Given the description of an element on the screen output the (x, y) to click on. 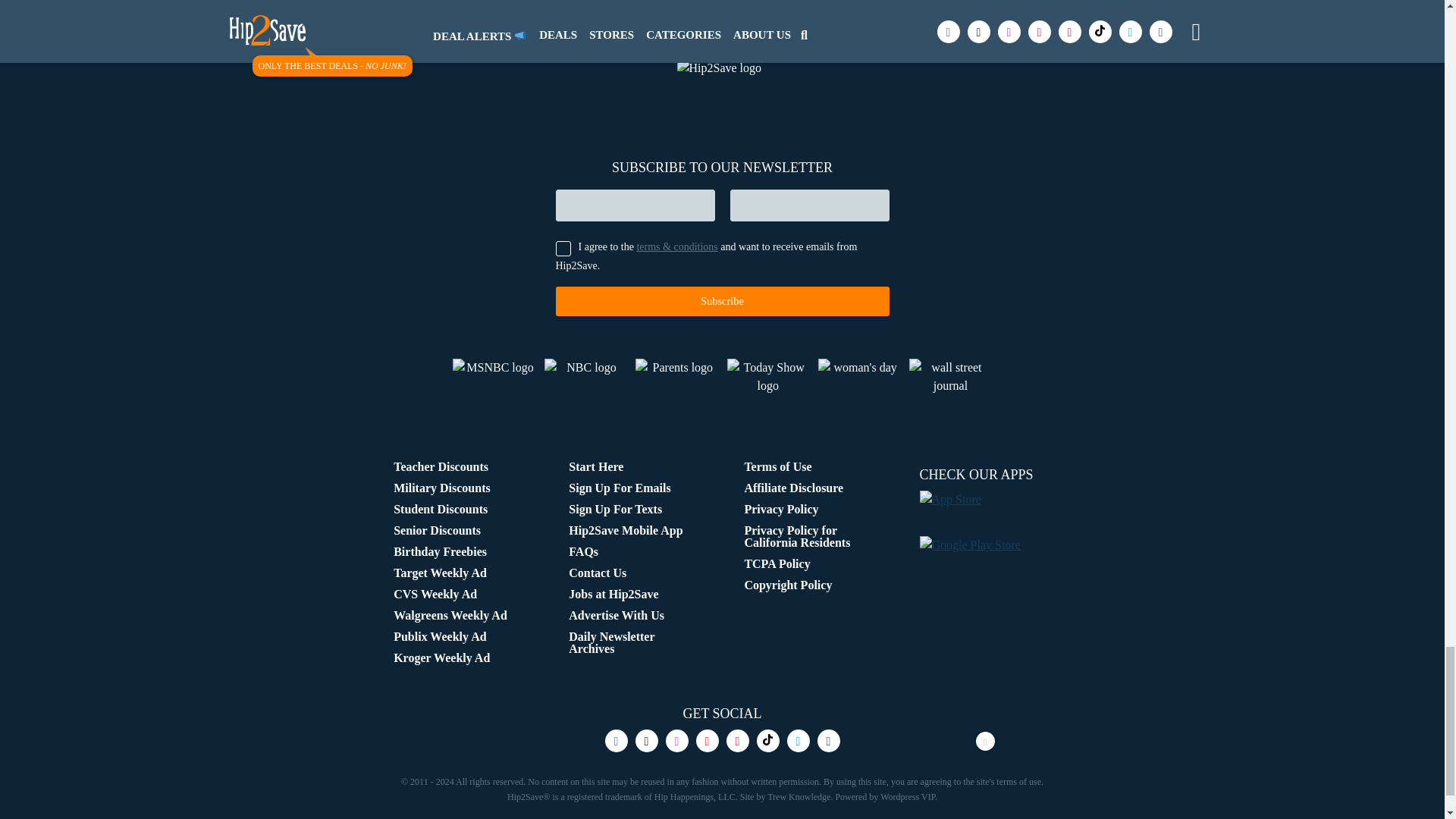
Subscribe (721, 301)
